Given the description of an element on the screen output the (x, y) to click on. 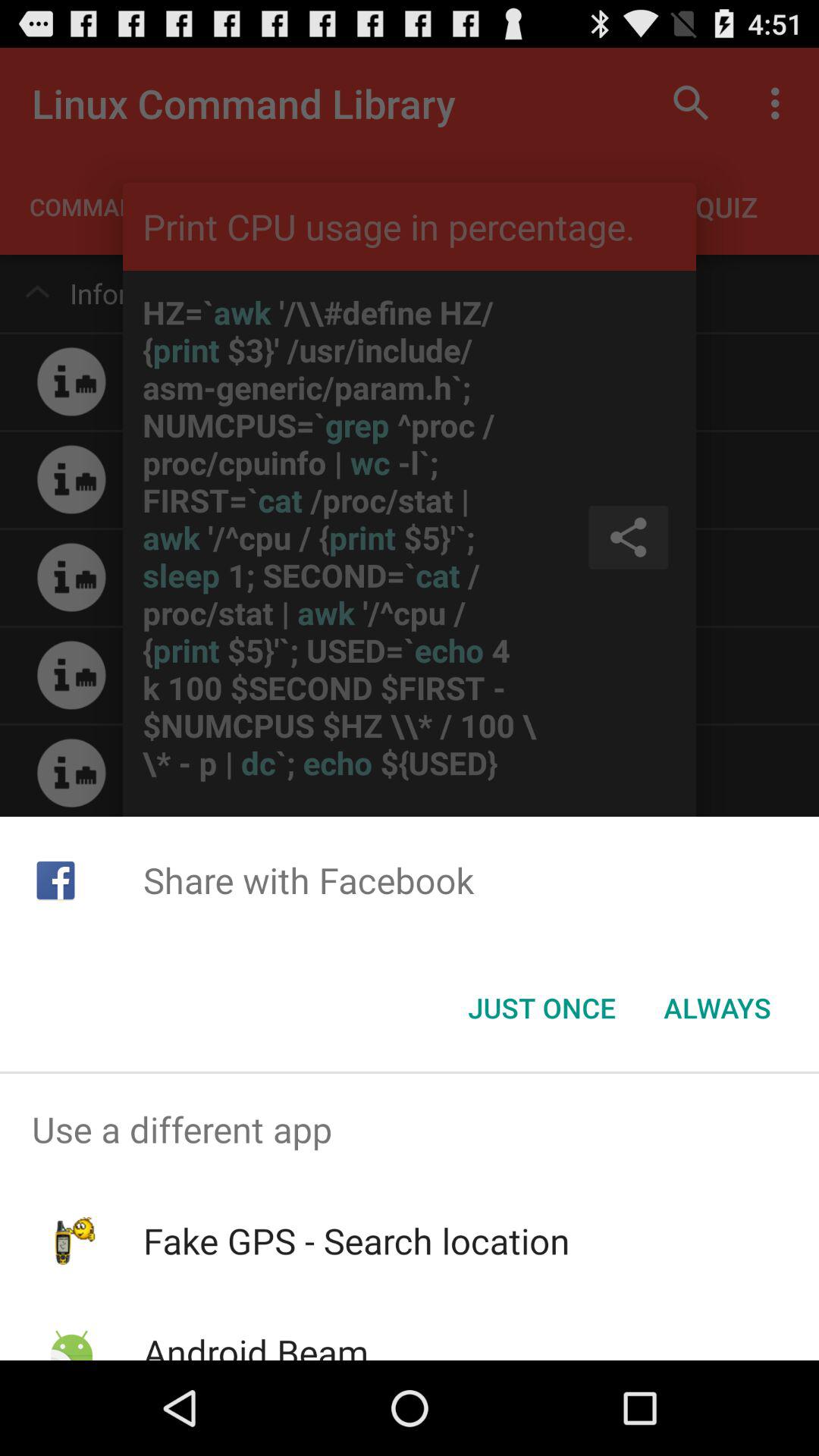
click the item below the fake gps search item (255, 1344)
